Given the description of an element on the screen output the (x, y) to click on. 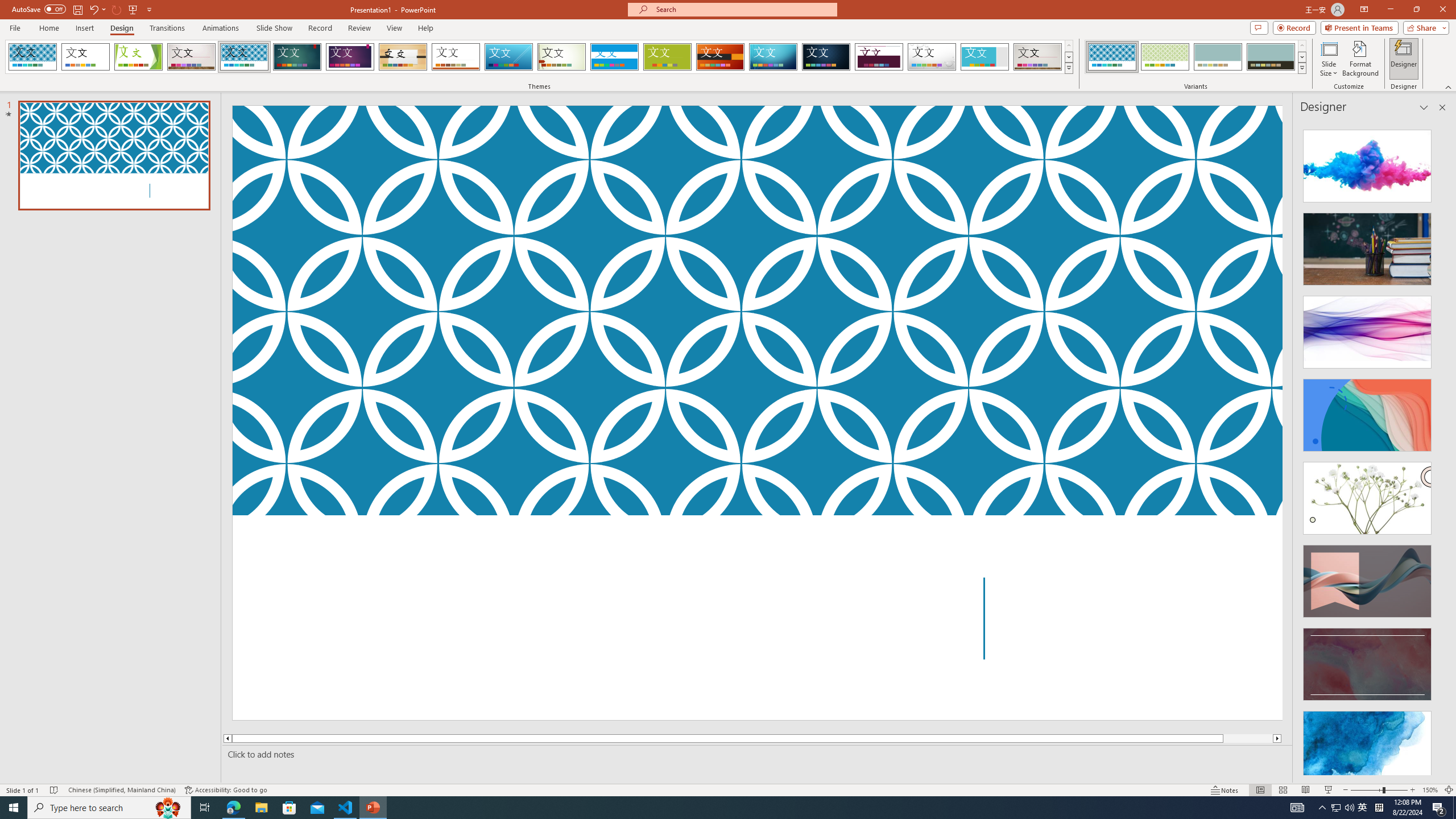
Ion Loading Preview... (296, 56)
Damask Loading Preview... (826, 56)
Variants (1301, 67)
Integral Variant 2 (1164, 56)
Zoom 150% (1430, 790)
Wisp Loading Preview... (561, 56)
Droplet Loading Preview... (931, 56)
